Given the description of an element on the screen output the (x, y) to click on. 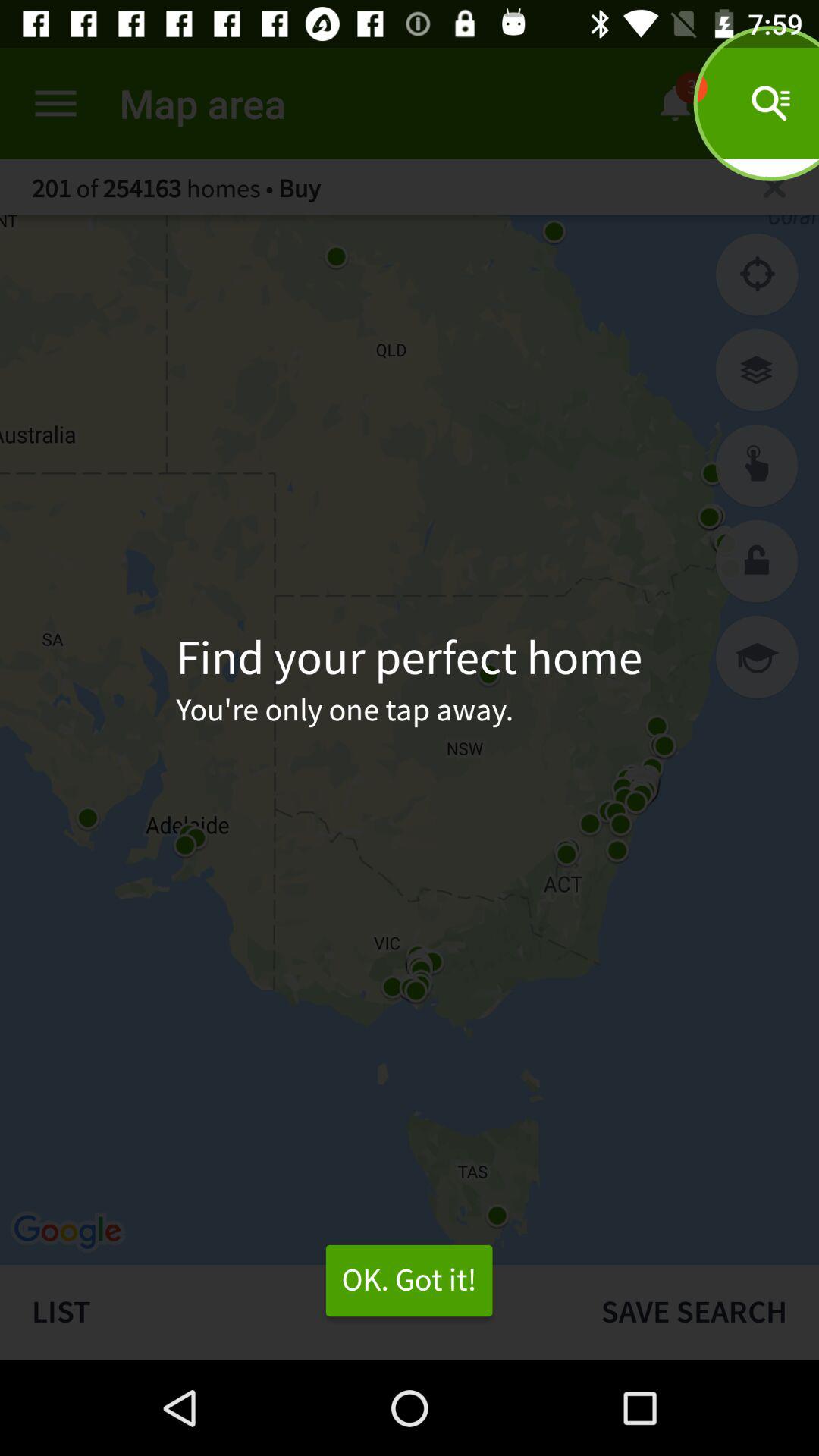
scroll until the list (284, 1312)
